Given the description of an element on the screen output the (x, y) to click on. 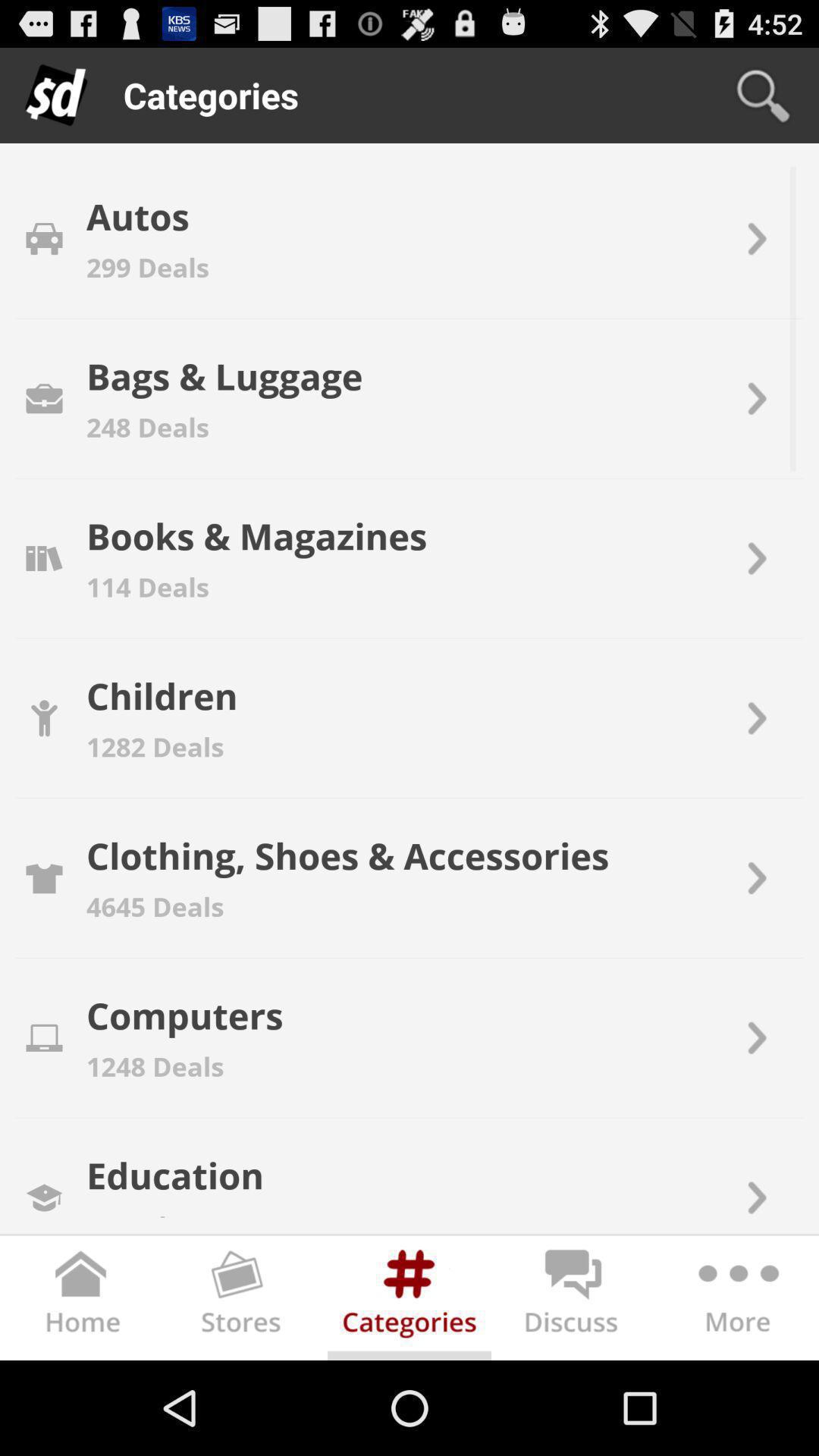
view stores (245, 1301)
